Given the description of an element on the screen output the (x, y) to click on. 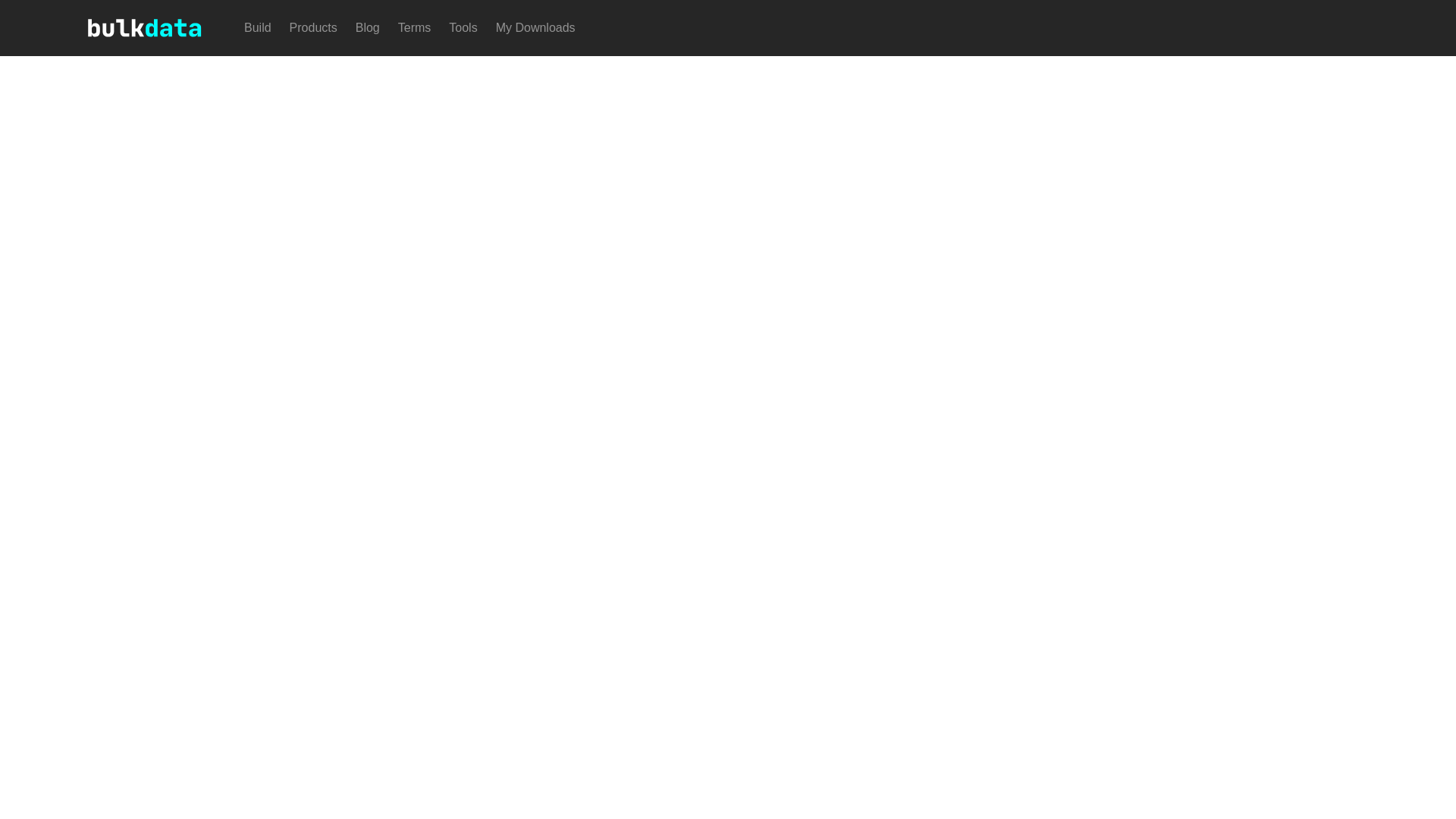
Build (258, 28)
Terms (414, 28)
Products (313, 28)
My Downloads (534, 28)
Tools (462, 28)
Blog (367, 28)
